Given the description of an element on the screen output the (x, y) to click on. 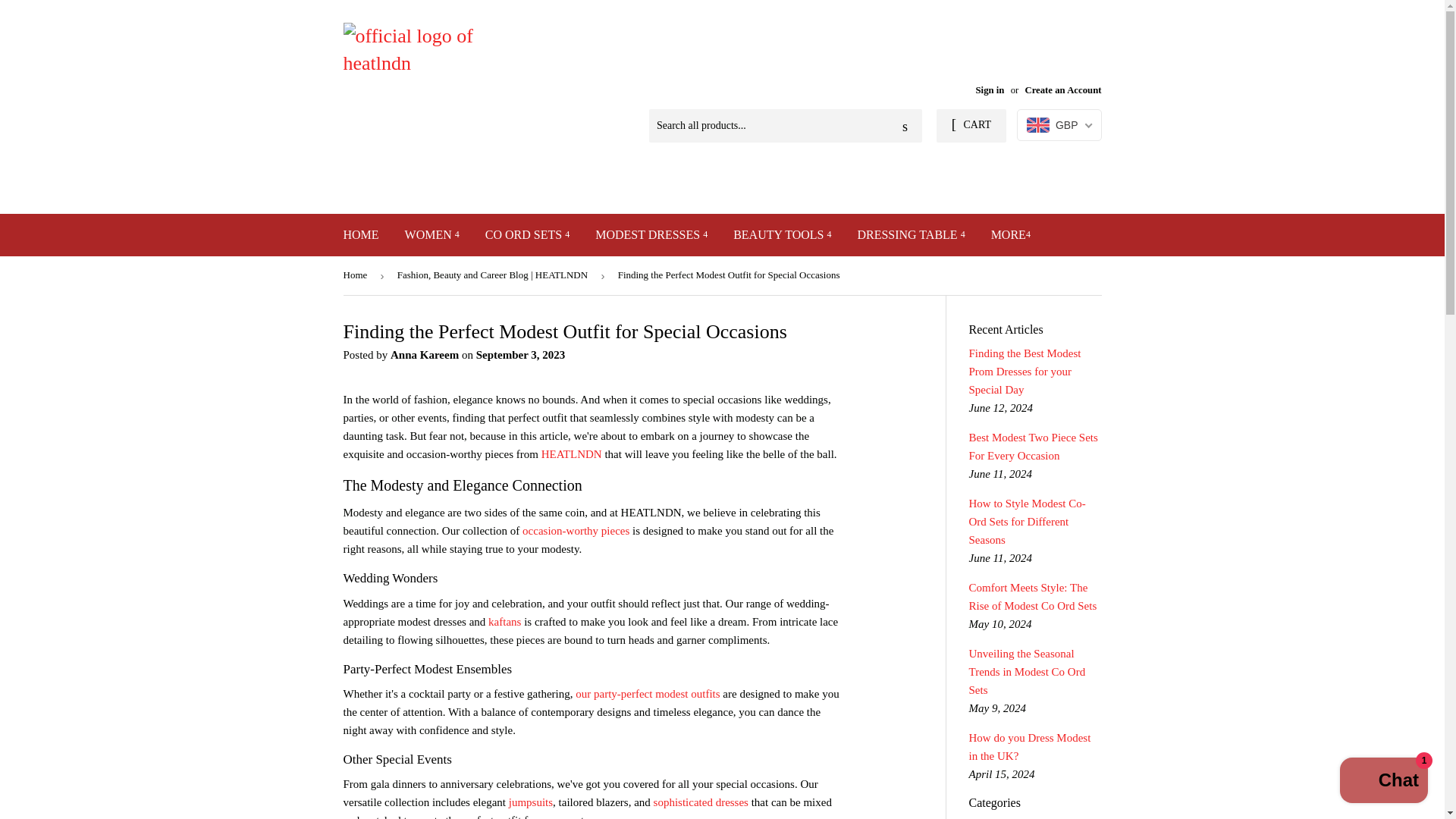
Create an Account (1062, 90)
WOMEN (431, 234)
elegant jumpsuits (530, 802)
brown modest sleeveless dress (700, 802)
HOME (360, 234)
HEATLNDN serving you modest western outfits (571, 453)
geometric print two piece co-ord set (647, 693)
Sign in (989, 90)
CART (971, 125)
Shopify online store chat (1383, 781)
Search (904, 126)
dresses suitable for occasions (575, 530)
modest satin tunic kaftan dress (504, 621)
